Given the description of an element on the screen output the (x, y) to click on. 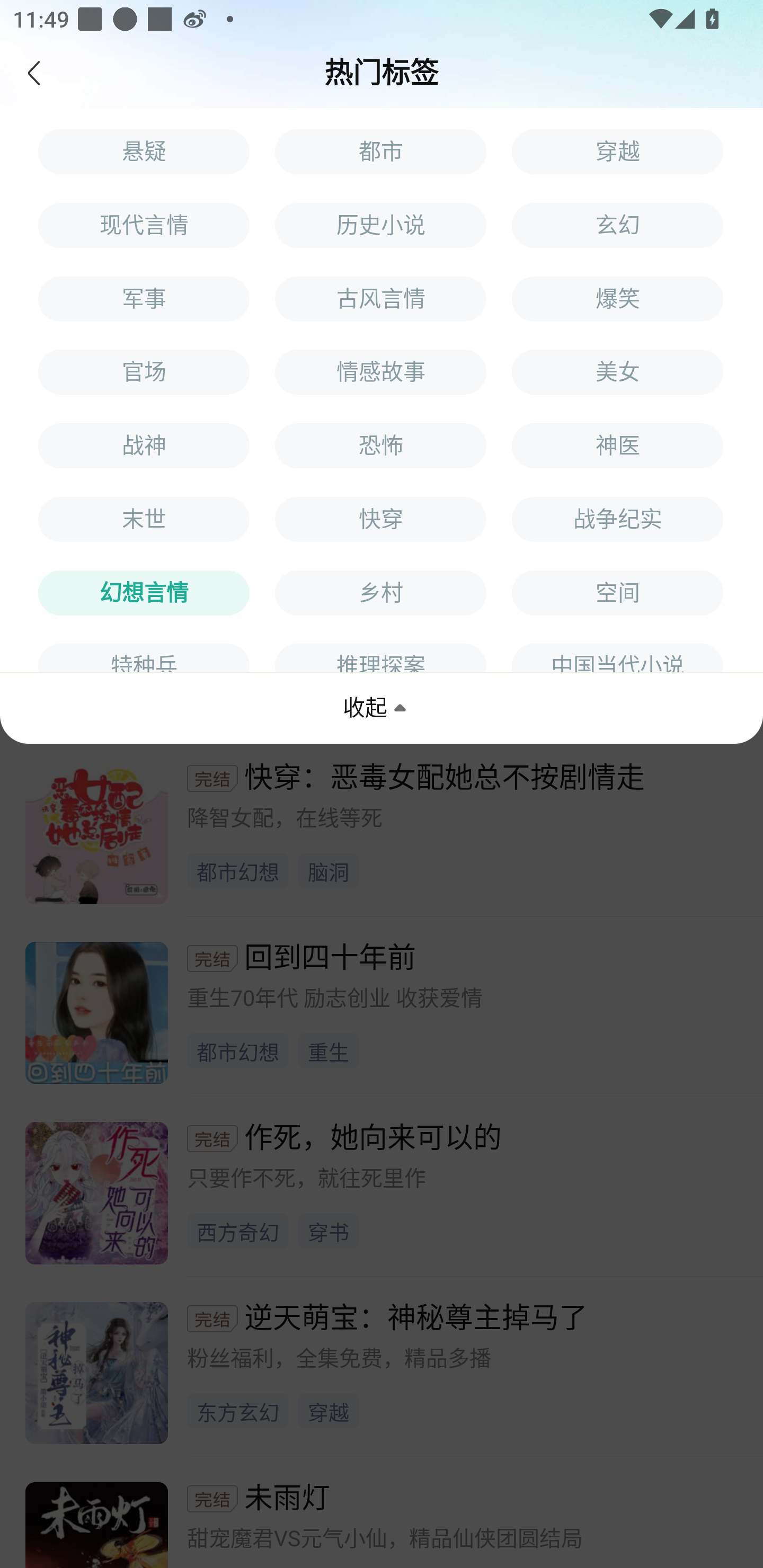
悬疑 (143, 151)
都市 (380, 151)
现代言情 (143, 224)
历史小说 (380, 224)
玄幻 (617, 224)
军事 (143, 298)
古风言情 (380, 298)
爆笑 (617, 298)
官场 (143, 372)
情感故事 (380, 372)
美女 (617, 372)
战神 (143, 445)
恐怖 (380, 445)
神医 (617, 445)
末世 (143, 519)
快穿 (380, 519)
战争纪实 (617, 519)
幻想言情 (143, 593)
乡村 (380, 593)
空间 (617, 593)
特种兵 (143, 657)
推理探案 (380, 657)
中国当代小说 (617, 657)
收起 (377, 707)
